Given the description of an element on the screen output the (x, y) to click on. 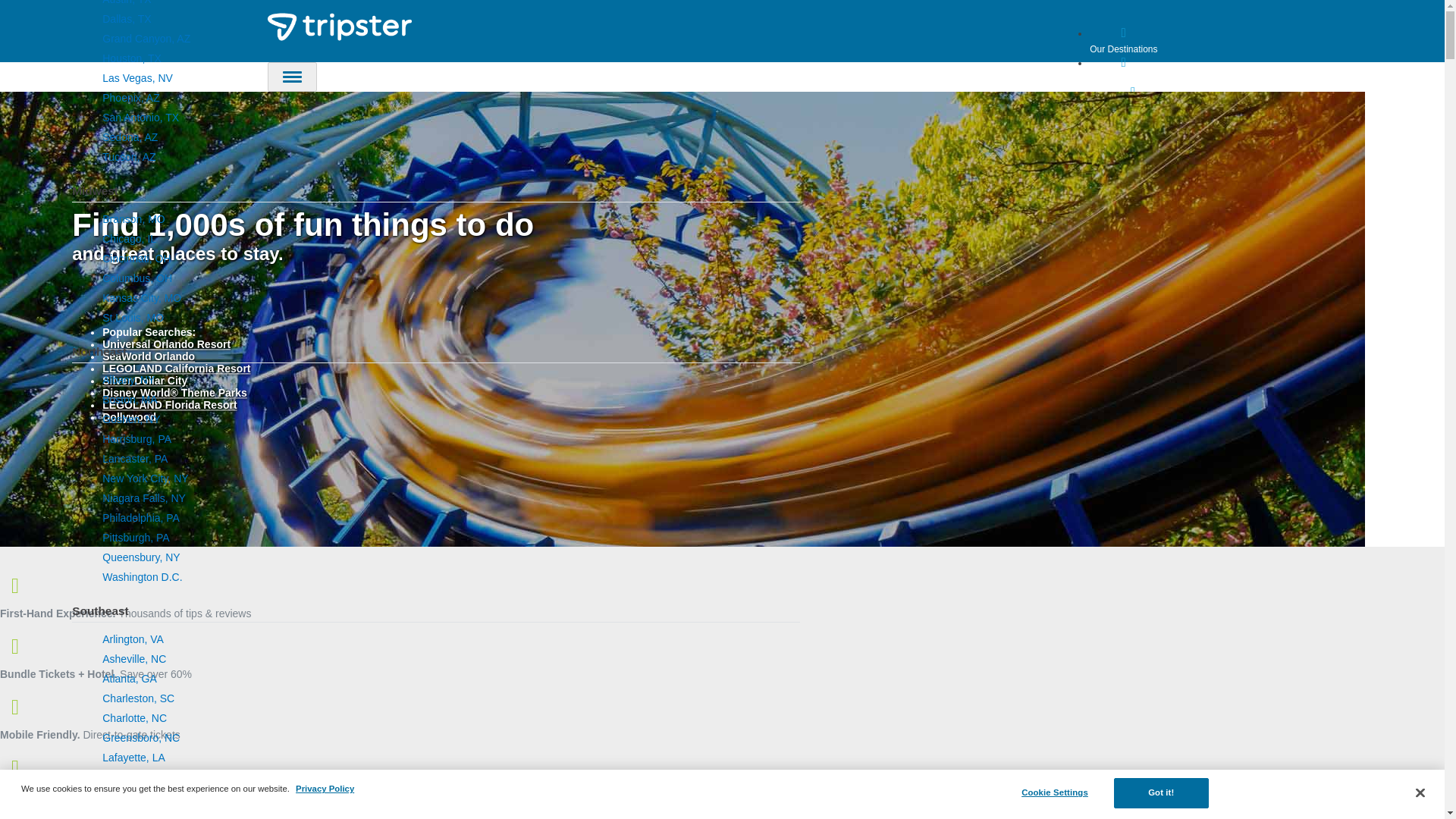
Toggle navigation (290, 76)
Columbus, OH (136, 277)
Tucson, AZ (128, 156)
New York City, NY (144, 478)
Niagara Falls, NY (143, 498)
Dallas, TX (126, 19)
Las Vegas, NV (137, 78)
Cincinnati, OH (135, 258)
Queensbury, NY (140, 557)
Harrisburg, PA (136, 439)
TrustedSite Certified (34, 804)
Pittsburgh, PA (134, 537)
Phoenix, AZ (130, 97)
St Louis, MO (132, 317)
Help (1132, 98)
